Given the description of an element on the screen output the (x, y) to click on. 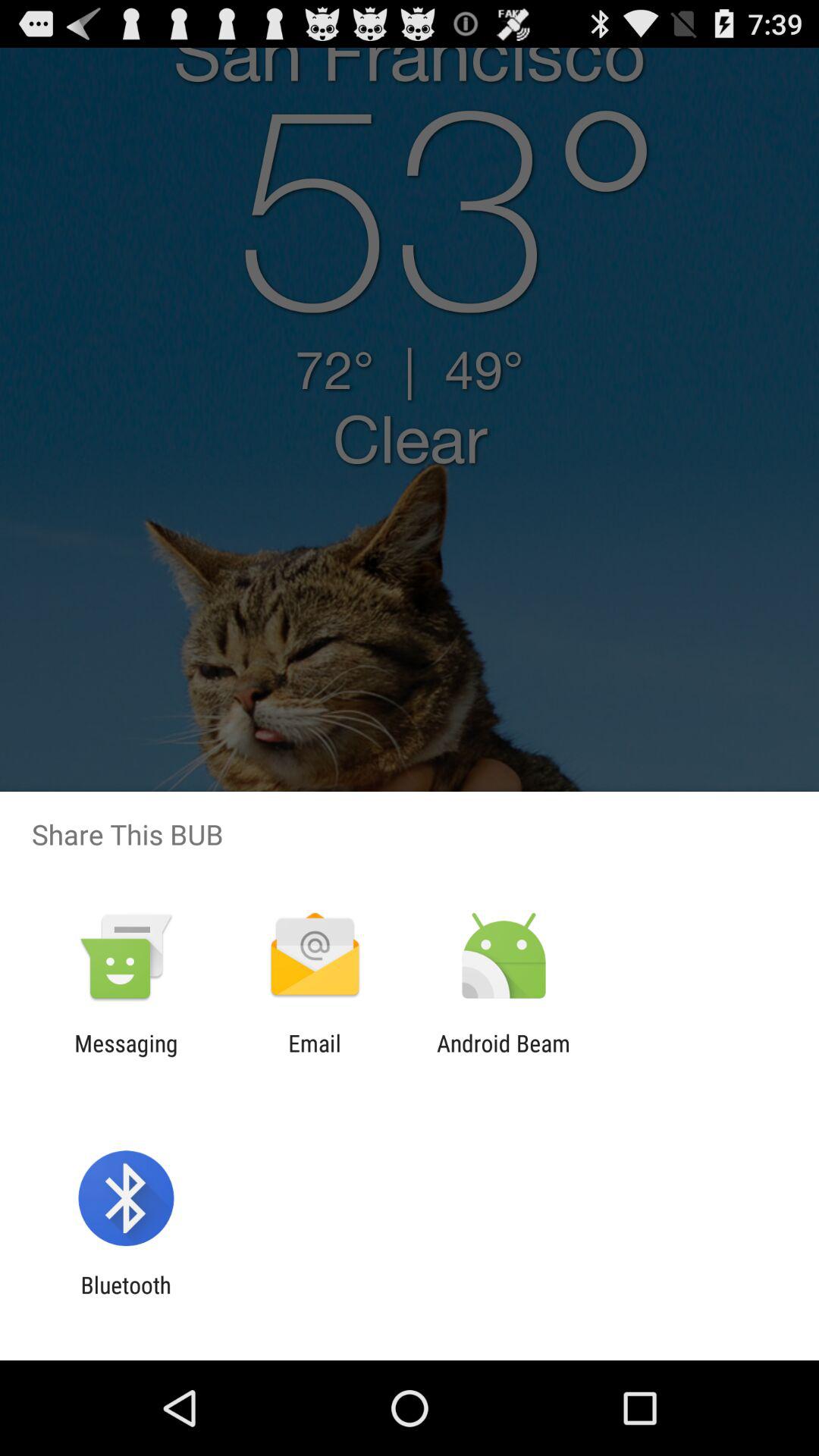
scroll to the bluetooth app (125, 1298)
